Given the description of an element on the screen output the (x, y) to click on. 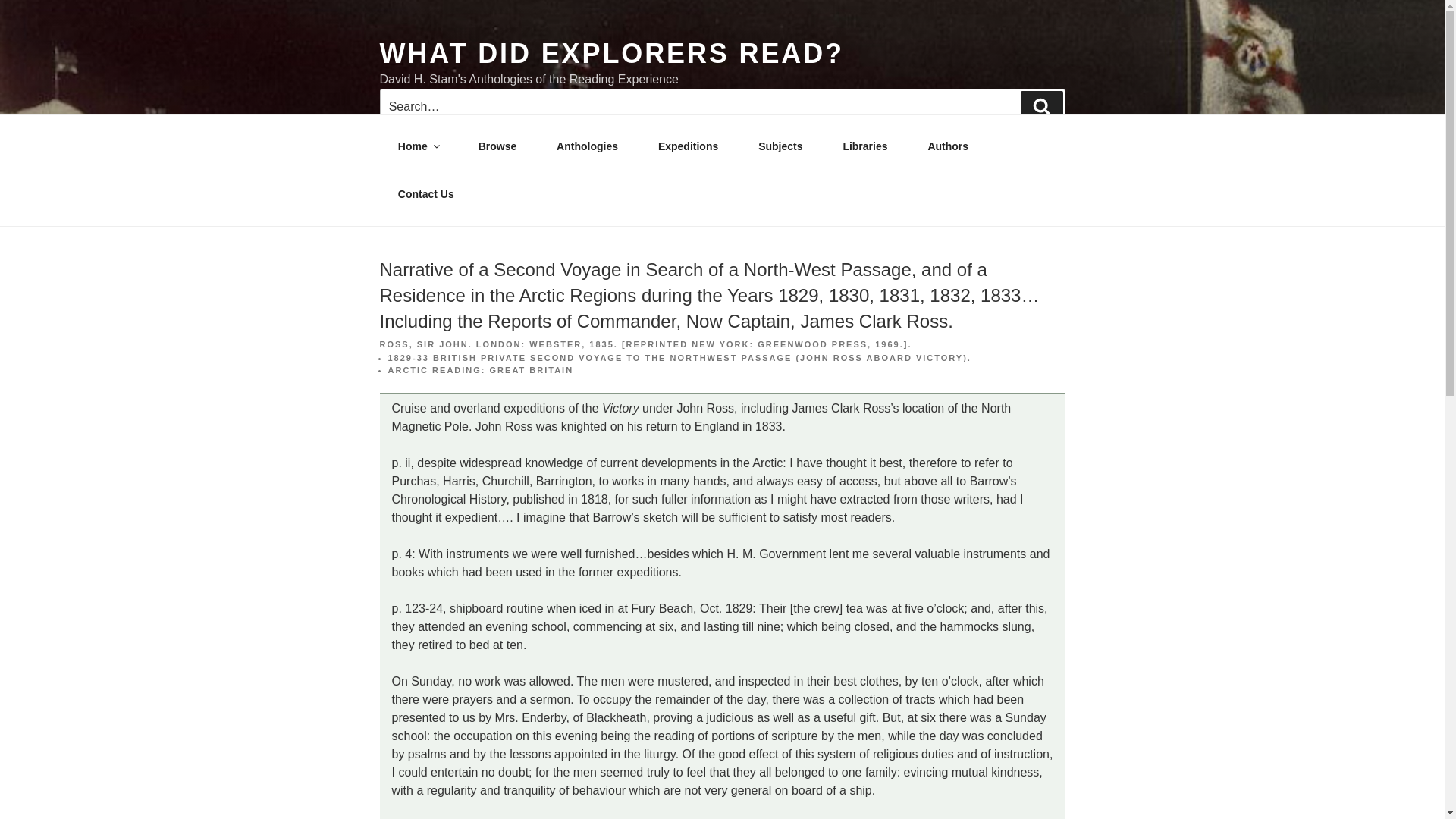
Libraries (865, 146)
Anthologies (587, 146)
Contact Us (425, 194)
Home (417, 146)
Subjects (780, 146)
Expeditions (687, 146)
Browse (496, 146)
Authors (947, 146)
WHAT DID EXPLORERS READ? (610, 52)
Search (1041, 106)
